Given the description of an element on the screen output the (x, y) to click on. 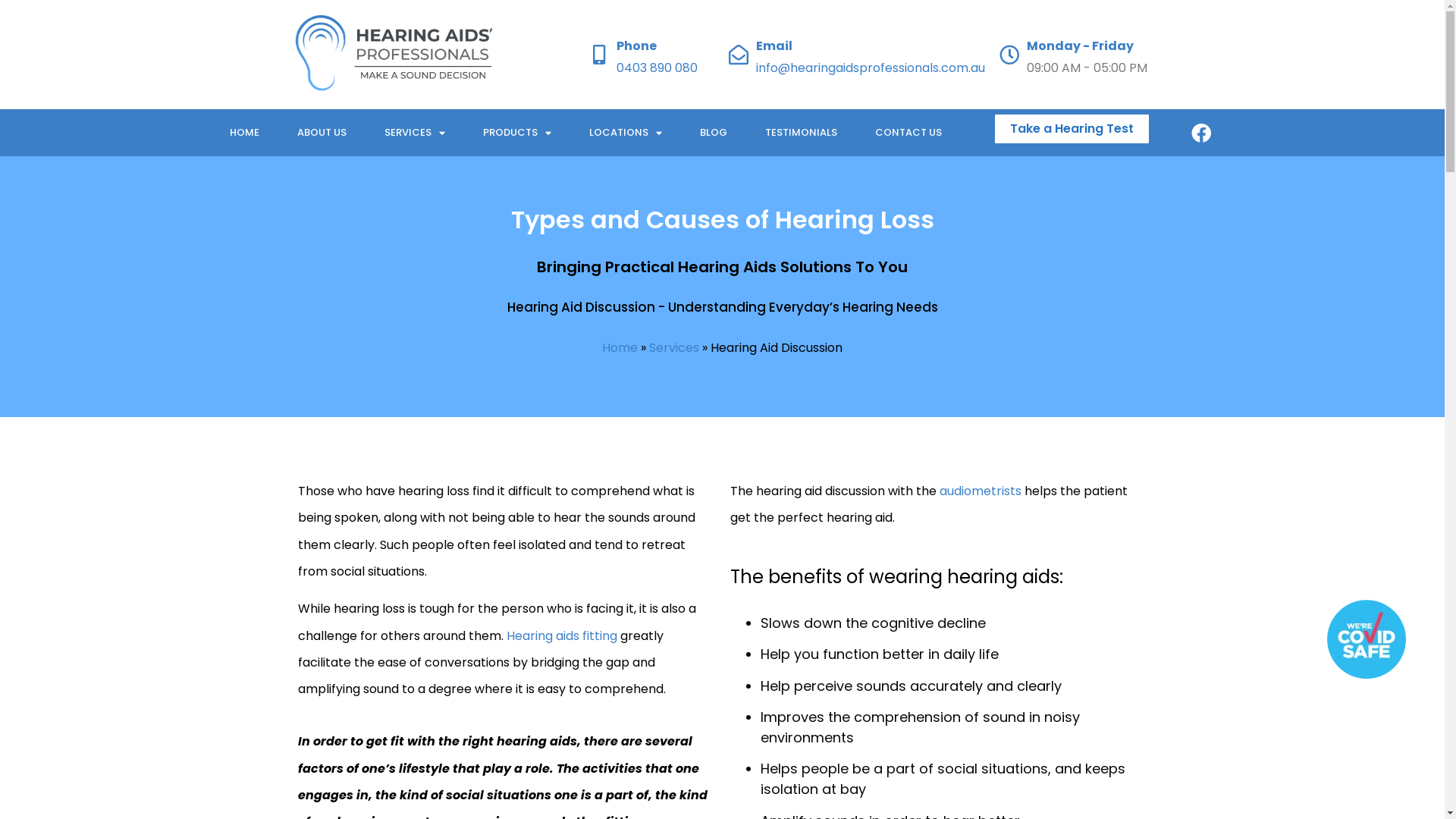
ABOUT US Element type: text (320, 132)
Phone Element type: text (635, 45)
CONTACT US Element type: text (907, 132)
SERVICES Element type: text (414, 132)
Services Element type: text (674, 347)
Email Element type: text (774, 45)
0403 890 080 Element type: text (655, 67)
info@hearingaidsprofessionals.com.au Element type: text (870, 67)
HOME Element type: text (244, 132)
Hearing aids fitting Element type: text (561, 634)
Hearing Aid Discussion 1 Element type: hover (1366, 638)
PRODUCTS Element type: text (517, 132)
TESTIMONIALS Element type: text (801, 132)
Home Element type: text (619, 347)
Take a Hearing Test Element type: text (1071, 128)
BLOG Element type: text (713, 132)
LOCATIONS Element type: text (625, 132)
audiometrists Element type: text (979, 490)
